Given the description of an element on the screen output the (x, y) to click on. 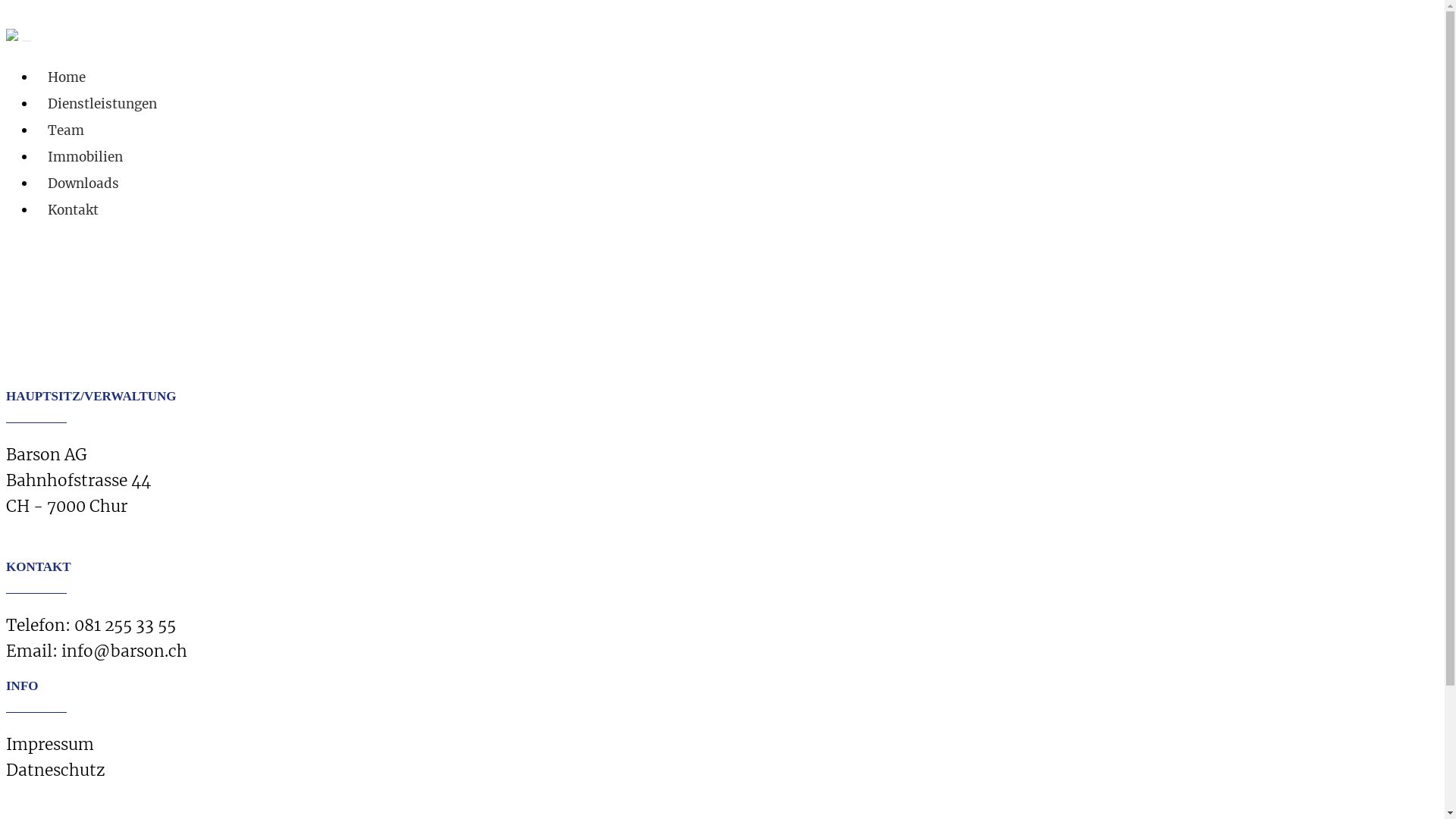
Dienstleistungen Element type: text (102, 103)
Datneschutz Element type: text (55, 769)
Team Element type: text (65, 130)
Impressum Element type: text (50, 744)
Downloads Element type: text (83, 183)
Home Element type: text (66, 77)
Kontakt Element type: text (72, 209)
Immobilien Element type: text (85, 156)
info@barson.ch Element type: text (124, 650)
